Given the description of an element on the screen output the (x, y) to click on. 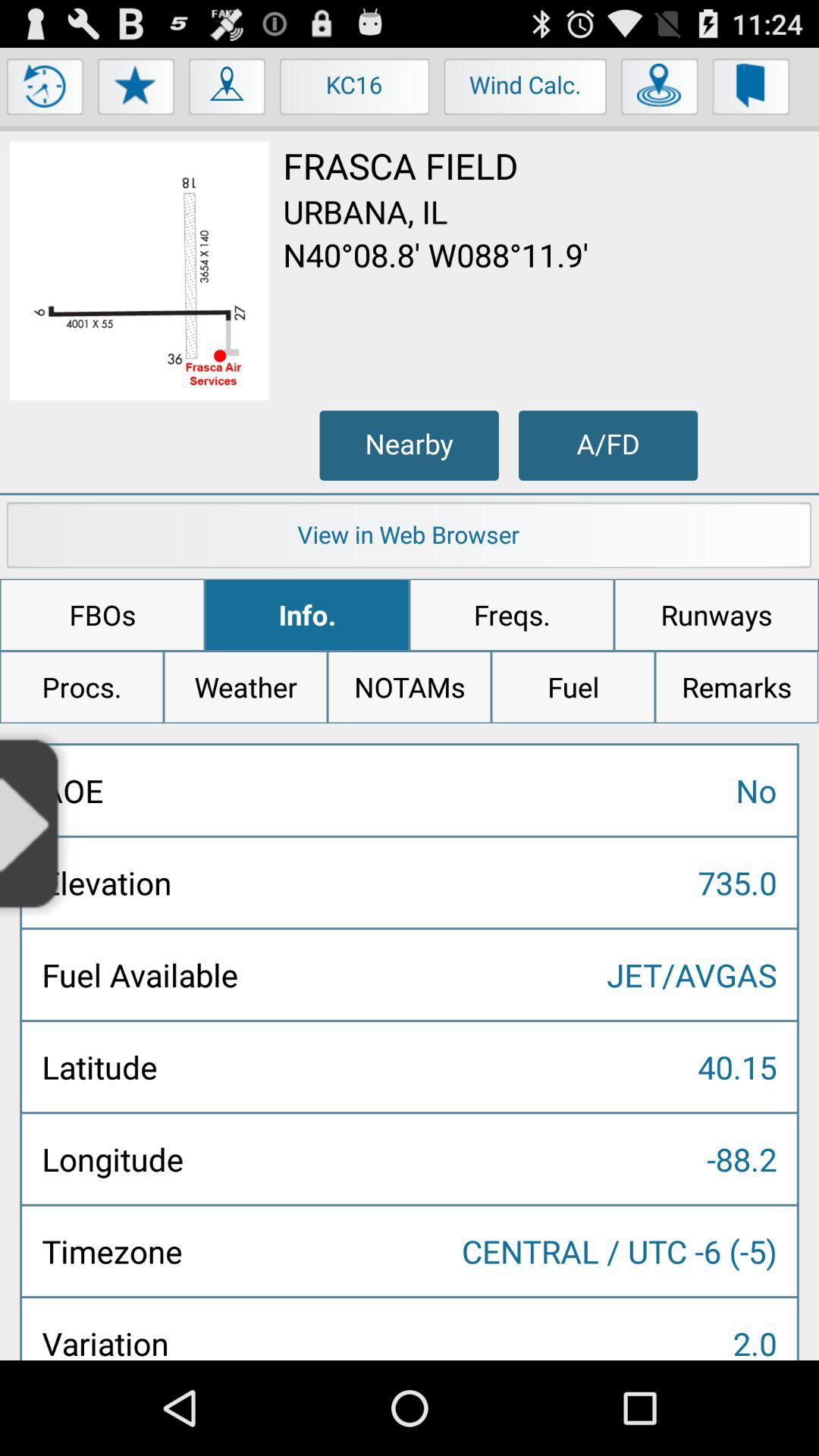
turn on item to the right of the procs. app (245, 687)
